Given the description of an element on the screen output the (x, y) to click on. 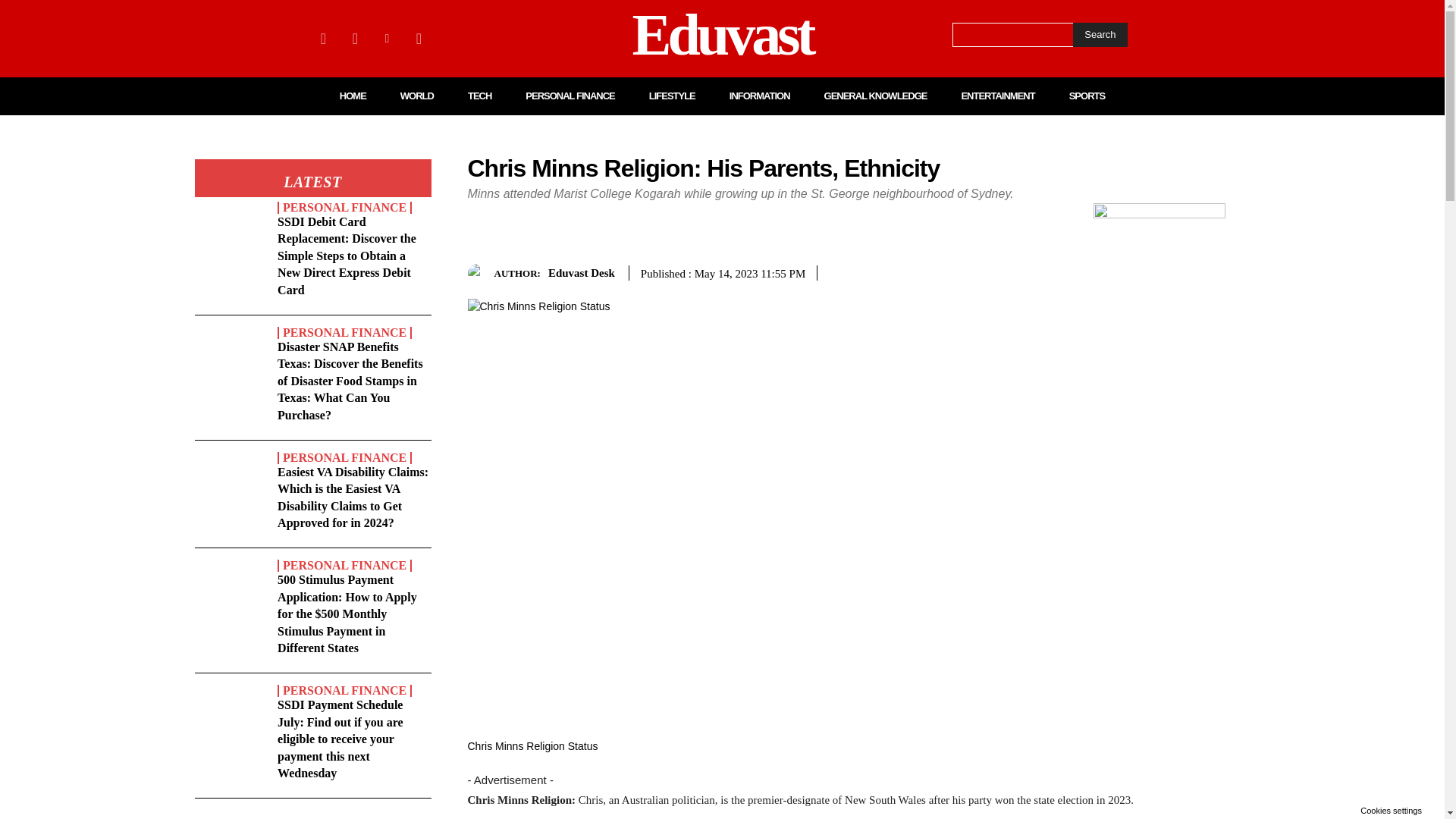
GENERAL KNOWLEDGE (875, 95)
Instagram (354, 38)
Linkedin (386, 38)
PERSONAL FINANCE (345, 207)
Facebook (322, 38)
WORLD (416, 95)
PERSONAL FINANCE (345, 458)
ENTERTAINMENT (996, 95)
PERSONAL FINANCE (569, 95)
